Given the description of an element on the screen output the (x, y) to click on. 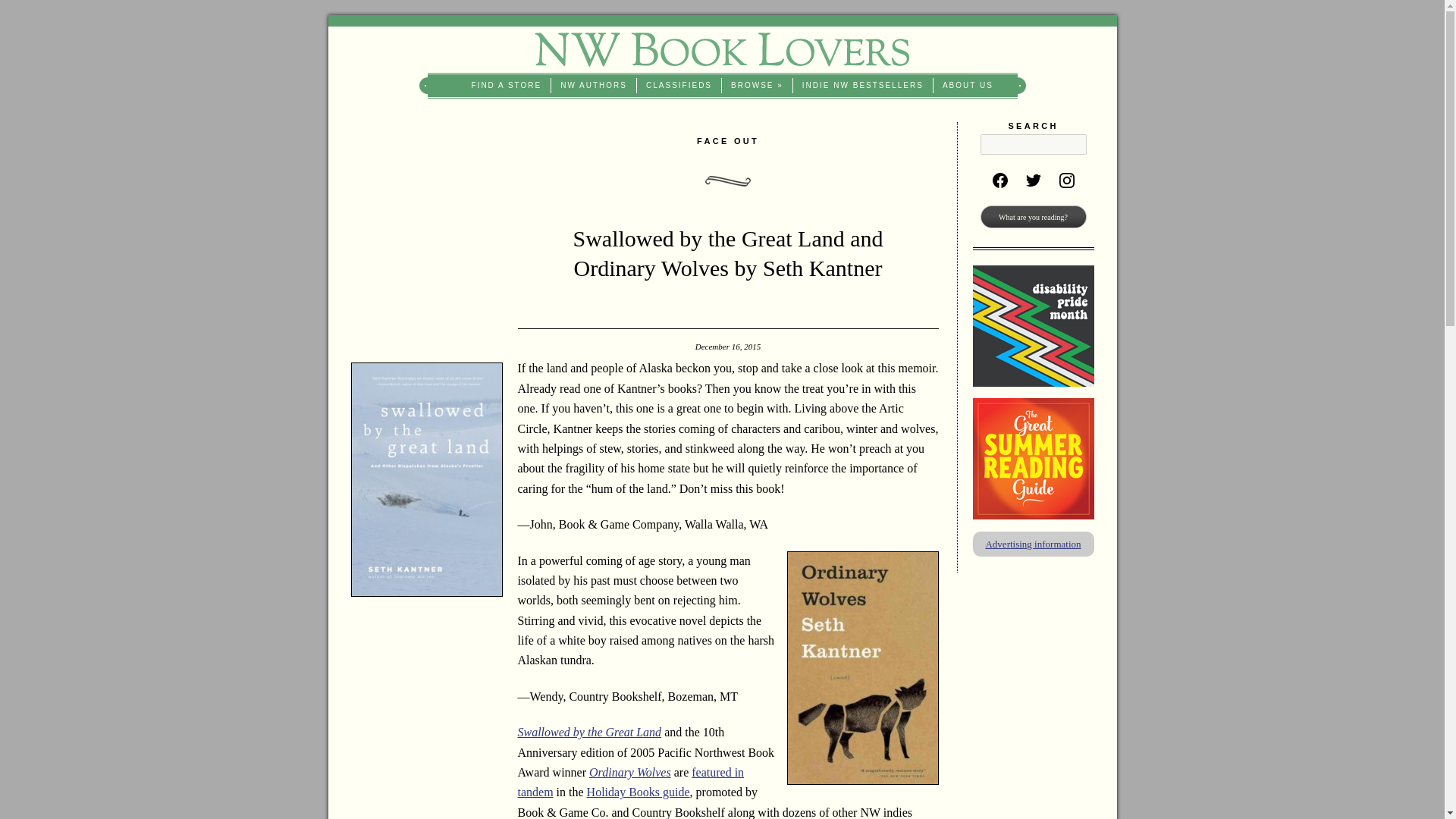
FIND A STORE (507, 85)
Ordinary Wolves (630, 771)
NW Book Lovers (721, 49)
Holiday Books guide (638, 791)
CLASSIFIEDS (678, 85)
ABOUT US (968, 85)
INDIE NW BESTSELLERS (863, 85)
Swallowed by the Great Land (588, 731)
featured in tandem (630, 781)
NW AUTHORS (593, 85)
